Given the description of an element on the screen output the (x, y) to click on. 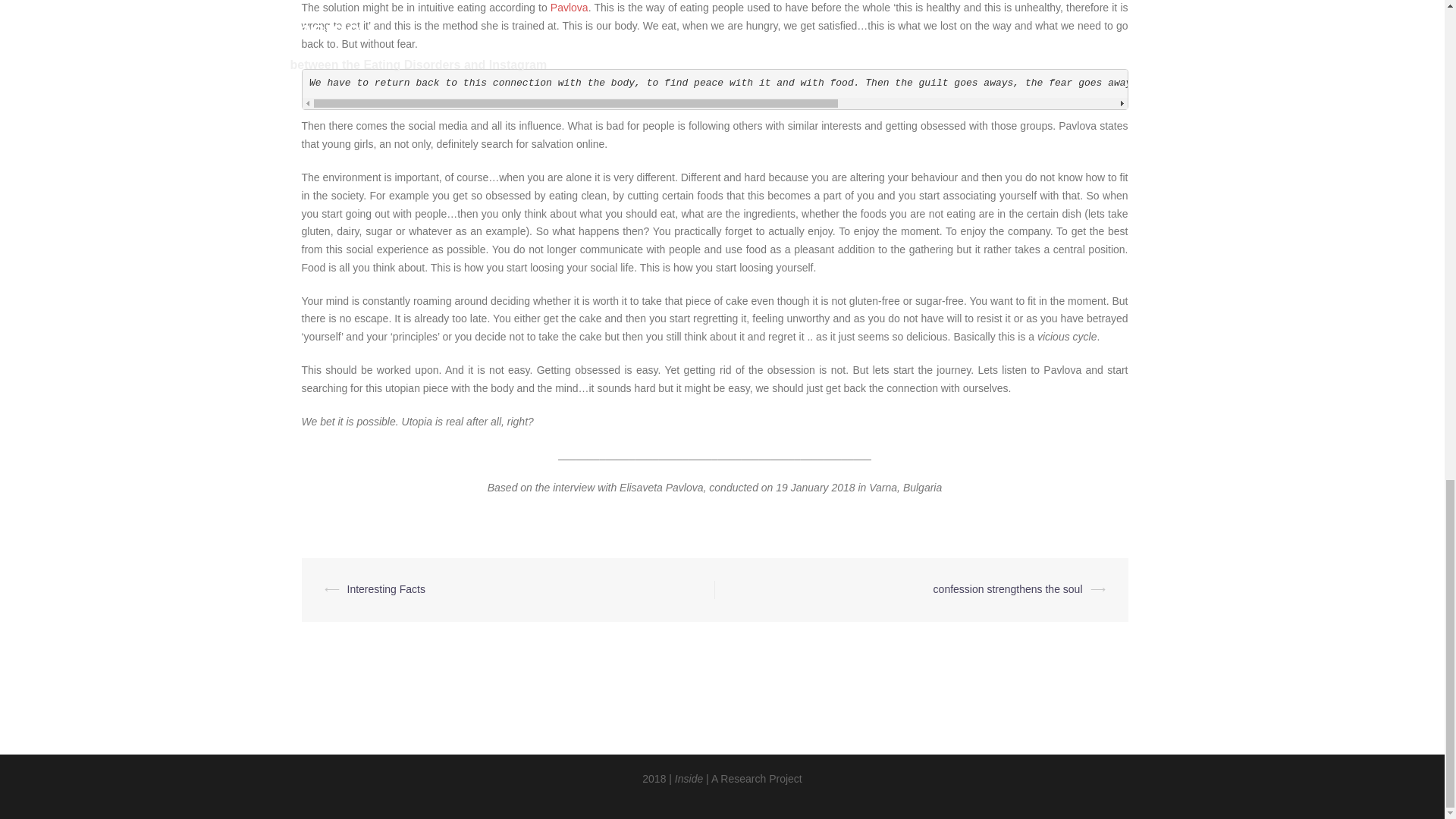
A Research Project (756, 778)
Pavlova (569, 7)
Interesting Facts (386, 589)
confession strengthens the soul (1008, 589)
2018 (653, 778)
